Given the description of an element on the screen output the (x, y) to click on. 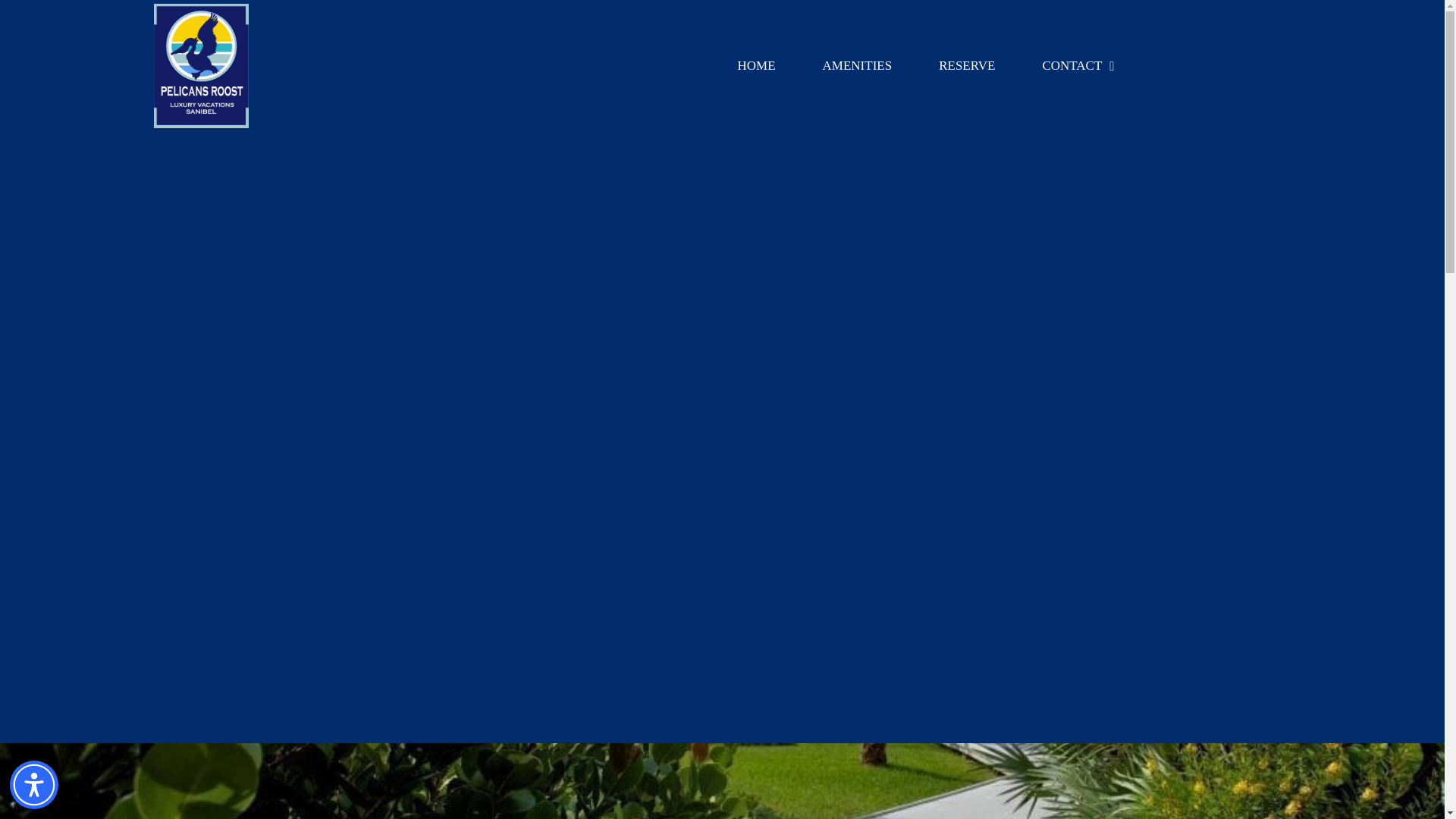
AMENITIES (857, 65)
RESERVE (966, 65)
HOME (756, 65)
CONTACT (1077, 65)
Accessibility Menu (34, 784)
